Given the description of an element on the screen output the (x, y) to click on. 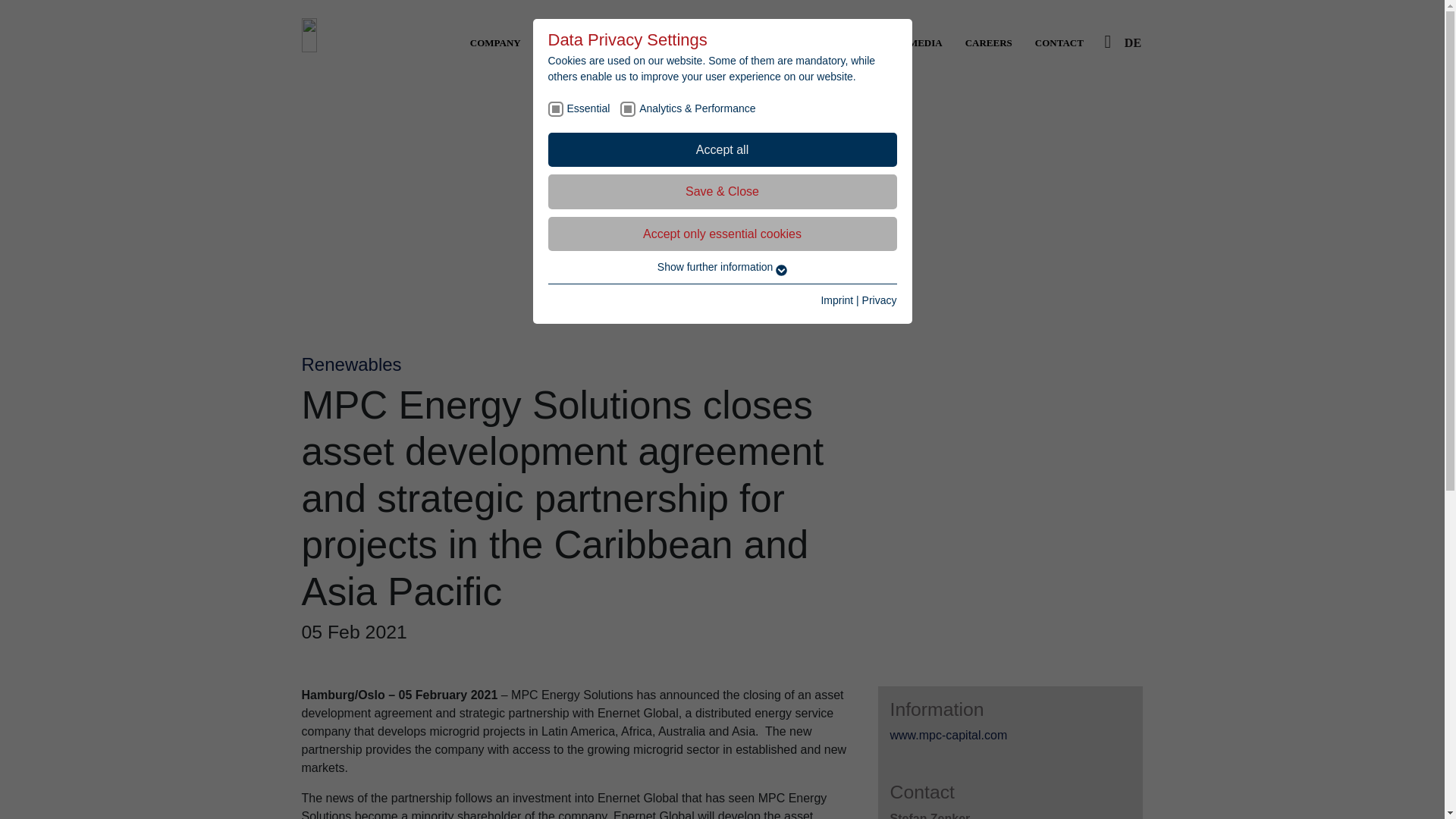
SUSTAINABILITY (584, 42)
Company (495, 42)
Sustainability (584, 42)
Investment Strategies (715, 42)
INVESTMENT STRATEGIES (715, 42)
COMPANY (495, 42)
